Given the description of an element on the screen output the (x, y) to click on. 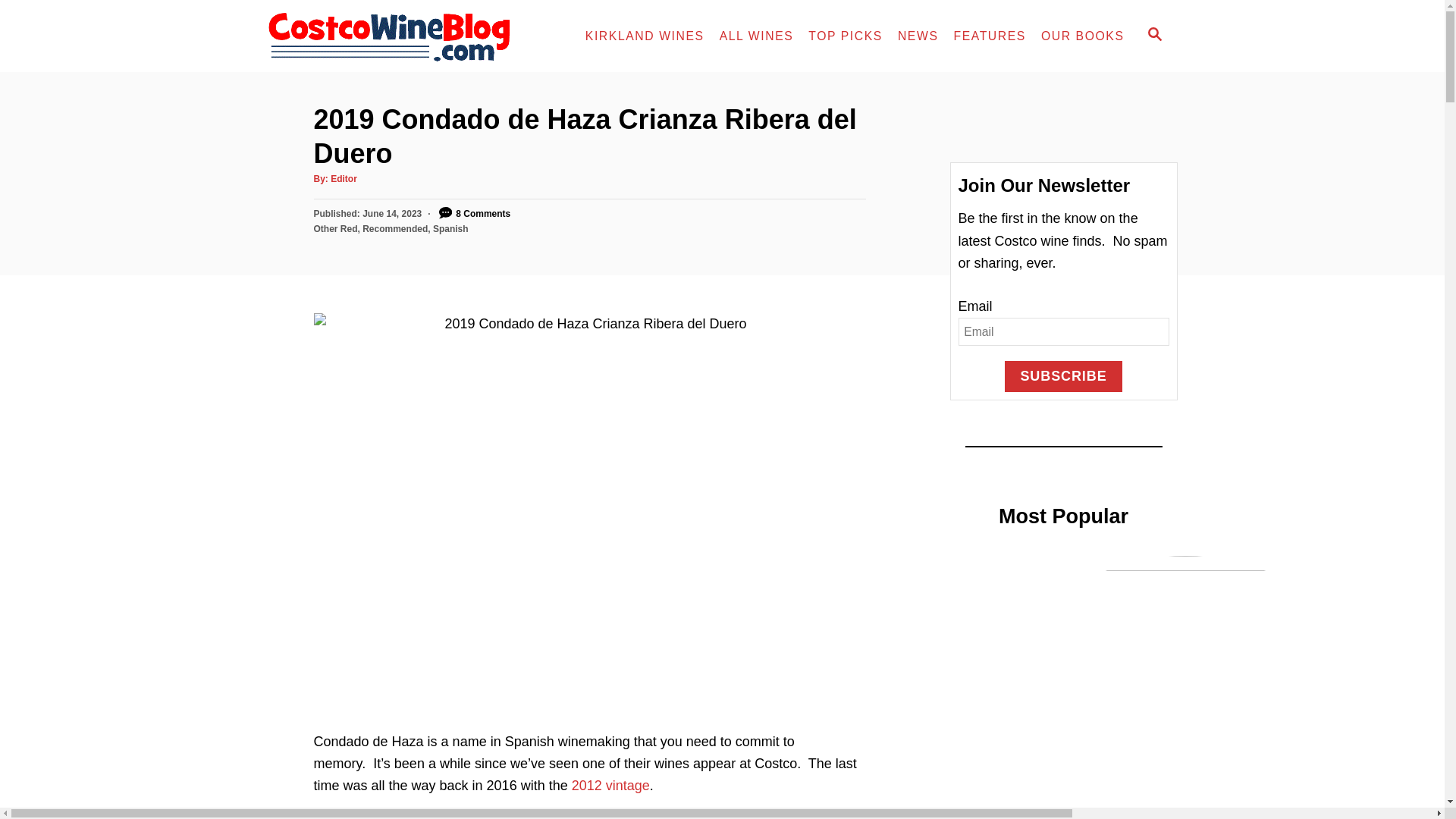
CostcoWineBlog.com (400, 36)
Spanish (450, 228)
ALL WINES (756, 36)
KIRKLAND WINES (644, 36)
TOP PICKS (844, 36)
OUR BOOKS (1082, 36)
SEARCH (1154, 35)
Other Red (336, 228)
Recommended (395, 228)
NEWS (917, 36)
